Given the description of an element on the screen output the (x, y) to click on. 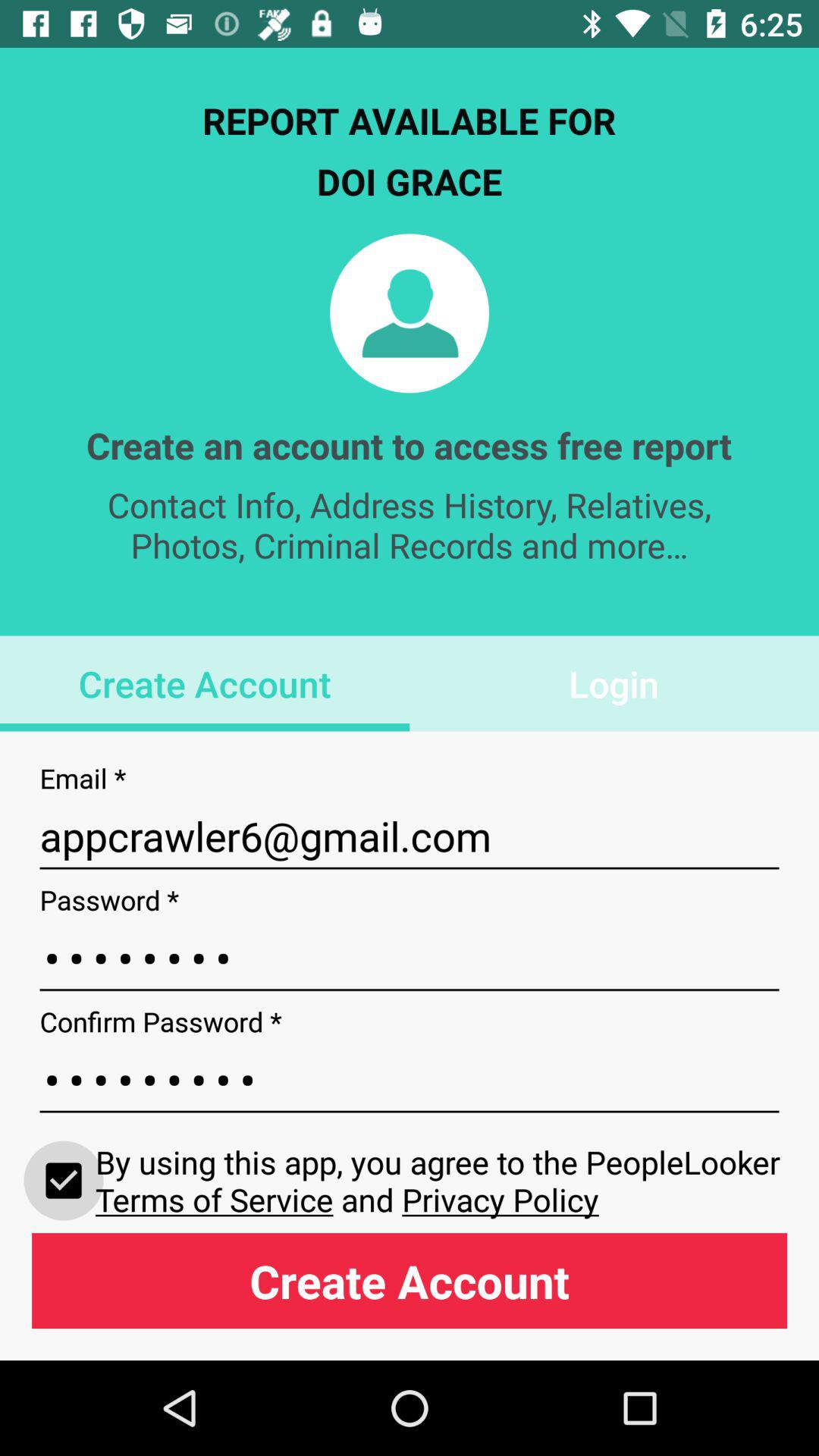
open the icon next to by using this (63, 1180)
